Given the description of an element on the screen output the (x, y) to click on. 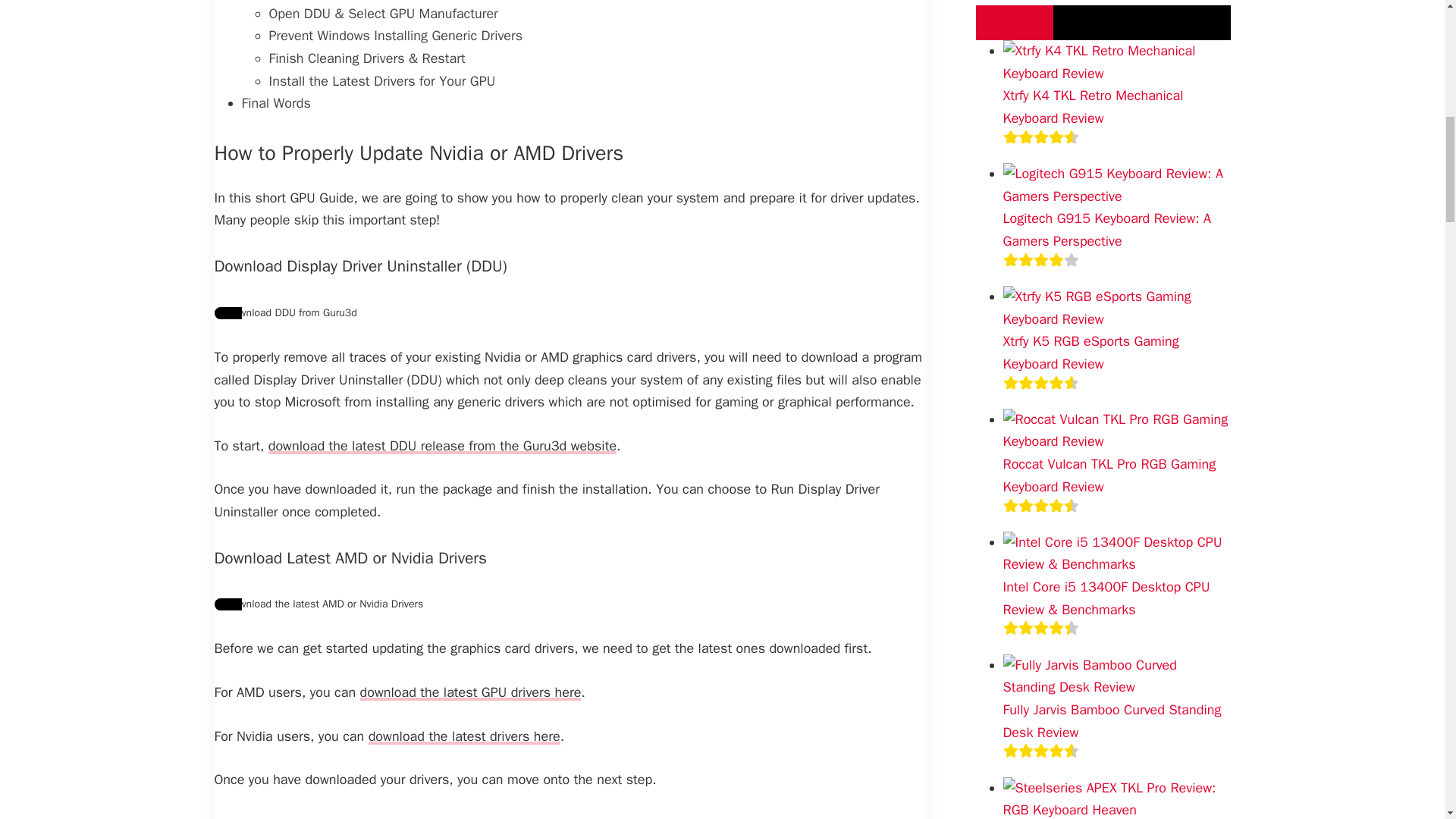
Prevent Windows Installing Generic Drivers (394, 36)
Restart in Safemode (329, 1)
Install the Latest Drivers for Your GPU (381, 81)
Restart in Safemode (329, 1)
Prevent Windows Installing Generic Drivers (394, 36)
Install the Latest Drivers for Your GPU (381, 81)
download the latest drivers here (464, 736)
download the latest DDU release from the Guru3d website (441, 445)
download the latest GPU drivers here (469, 692)
Final Words (275, 103)
